Given the description of an element on the screen output the (x, y) to click on. 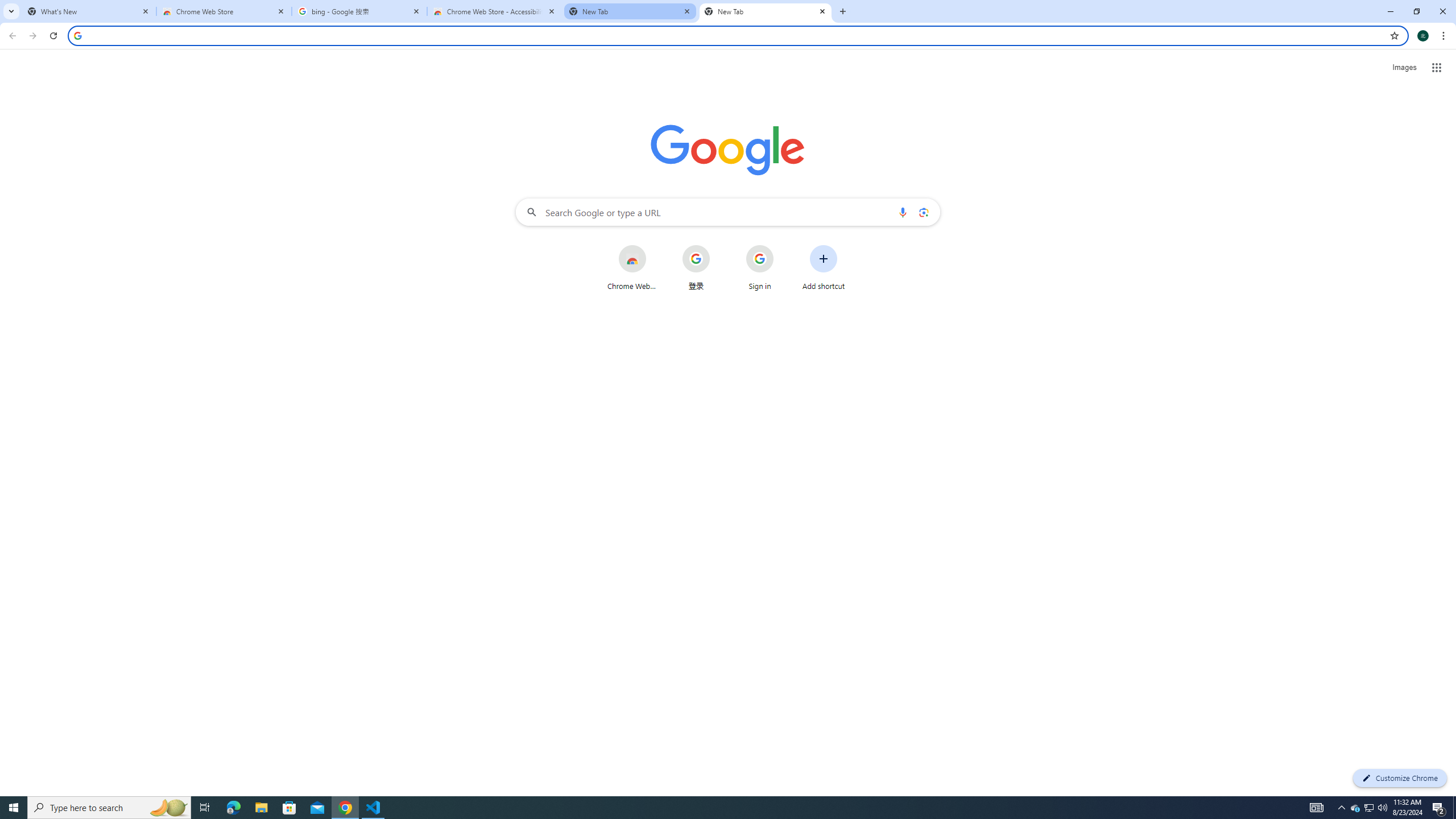
New Tab (765, 11)
What's New (88, 11)
More actions for Sign in shortcut (782, 245)
Chrome Web Store - Accessibility (494, 11)
Add shortcut (824, 267)
Search by image (922, 212)
More actions for Chrome Web Store shortcut (654, 245)
Search Google or type a URL (727, 212)
